Given the description of an element on the screen output the (x, y) to click on. 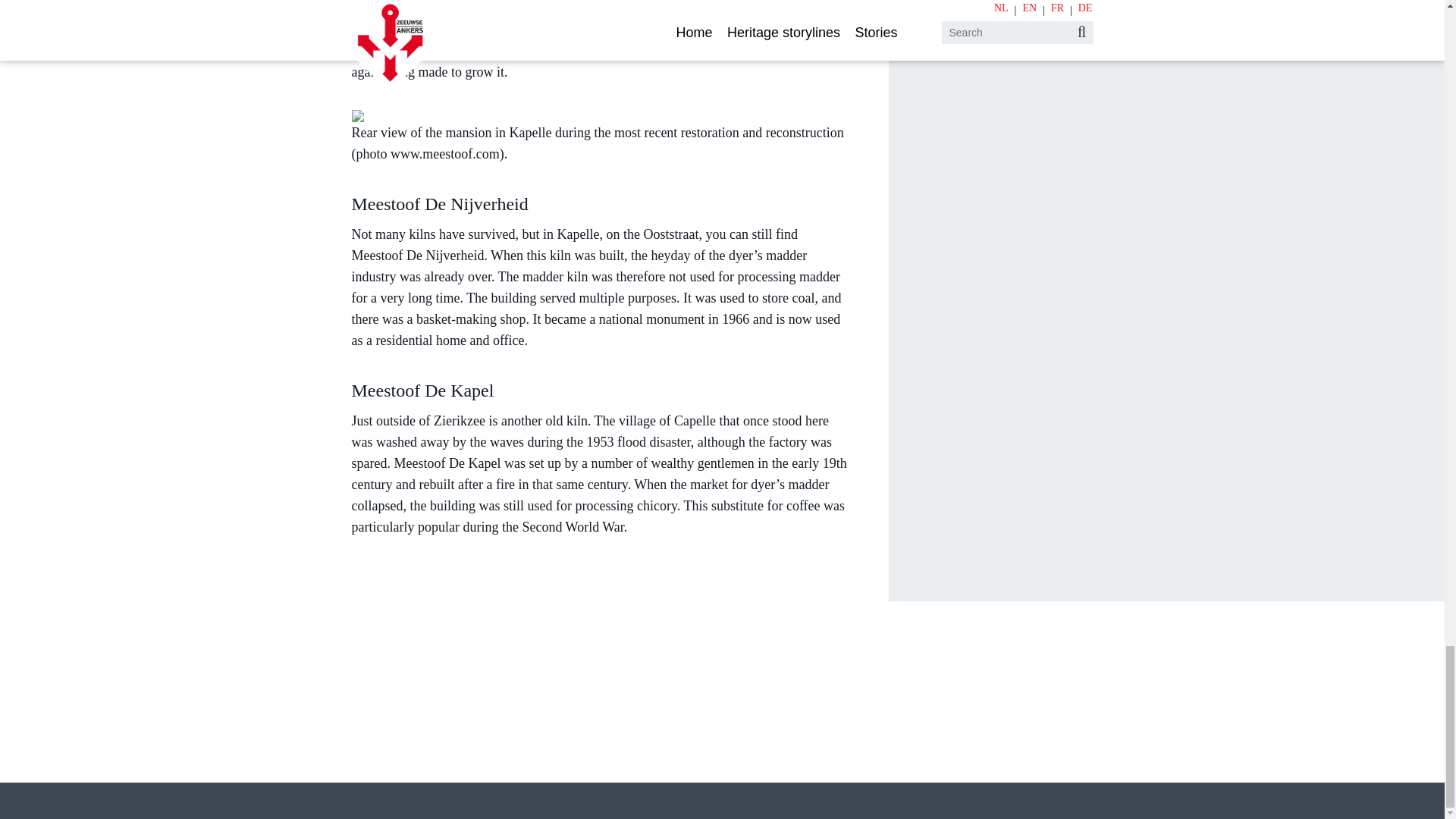
Heritage storylines (444, 754)
Home (368, 754)
Stories (524, 754)
